Given the description of an element on the screen output the (x, y) to click on. 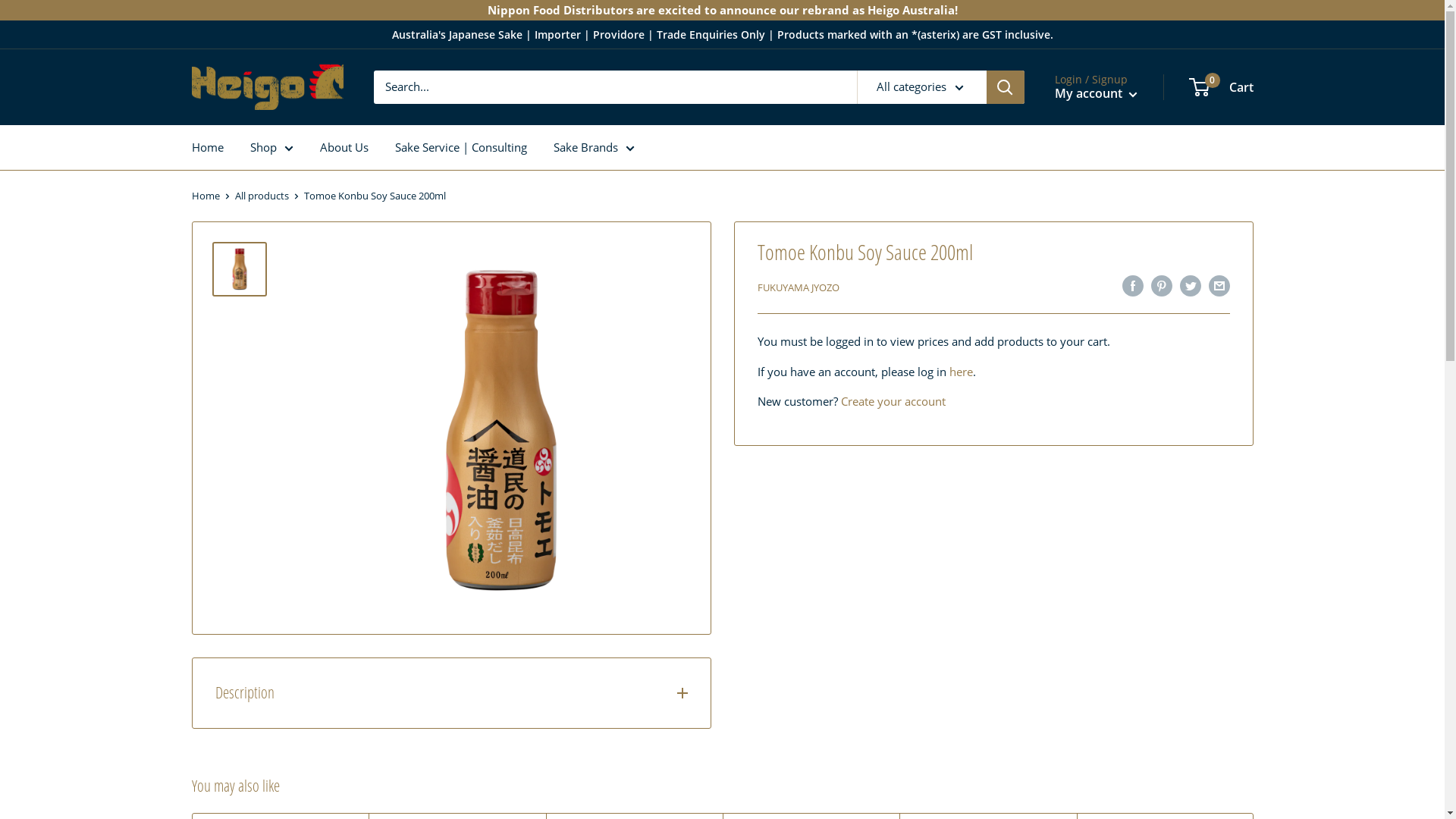
0
Cart Element type: text (1221, 87)
Heigo Element type: text (266, 87)
About Us Element type: text (344, 147)
Home Element type: text (206, 147)
Create your account Element type: text (892, 400)
My account Element type: text (1095, 93)
here Element type: text (960, 371)
Description Element type: text (451, 693)
Sake Brands Element type: text (593, 147)
FUKUYAMA JYOZO Element type: text (797, 287)
Sake Service | Consulting Element type: text (460, 147)
Home Element type: text (205, 195)
All products Element type: text (261, 195)
Shop Element type: text (271, 147)
